Given the description of an element on the screen output the (x, y) to click on. 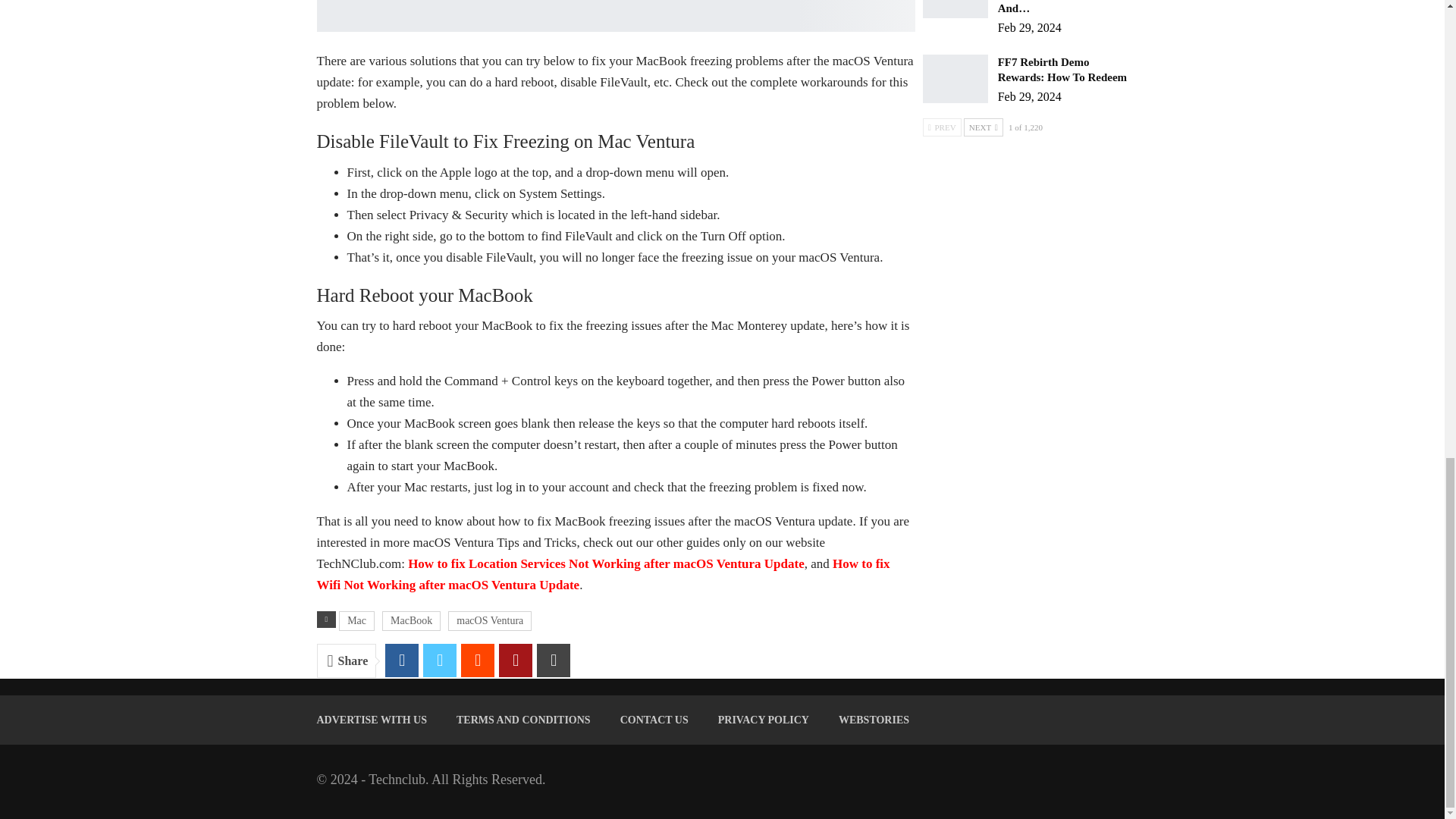
Mac (356, 620)
macOS Ventura (489, 620)
How to fix Wifi Not Working after macOS Ventura Update (603, 574)
FF7 Rebirth Demo Rewards: How To Redeem (955, 78)
Next (983, 126)
MacBook (411, 620)
Previous (941, 126)
